Given the description of an element on the screen output the (x, y) to click on. 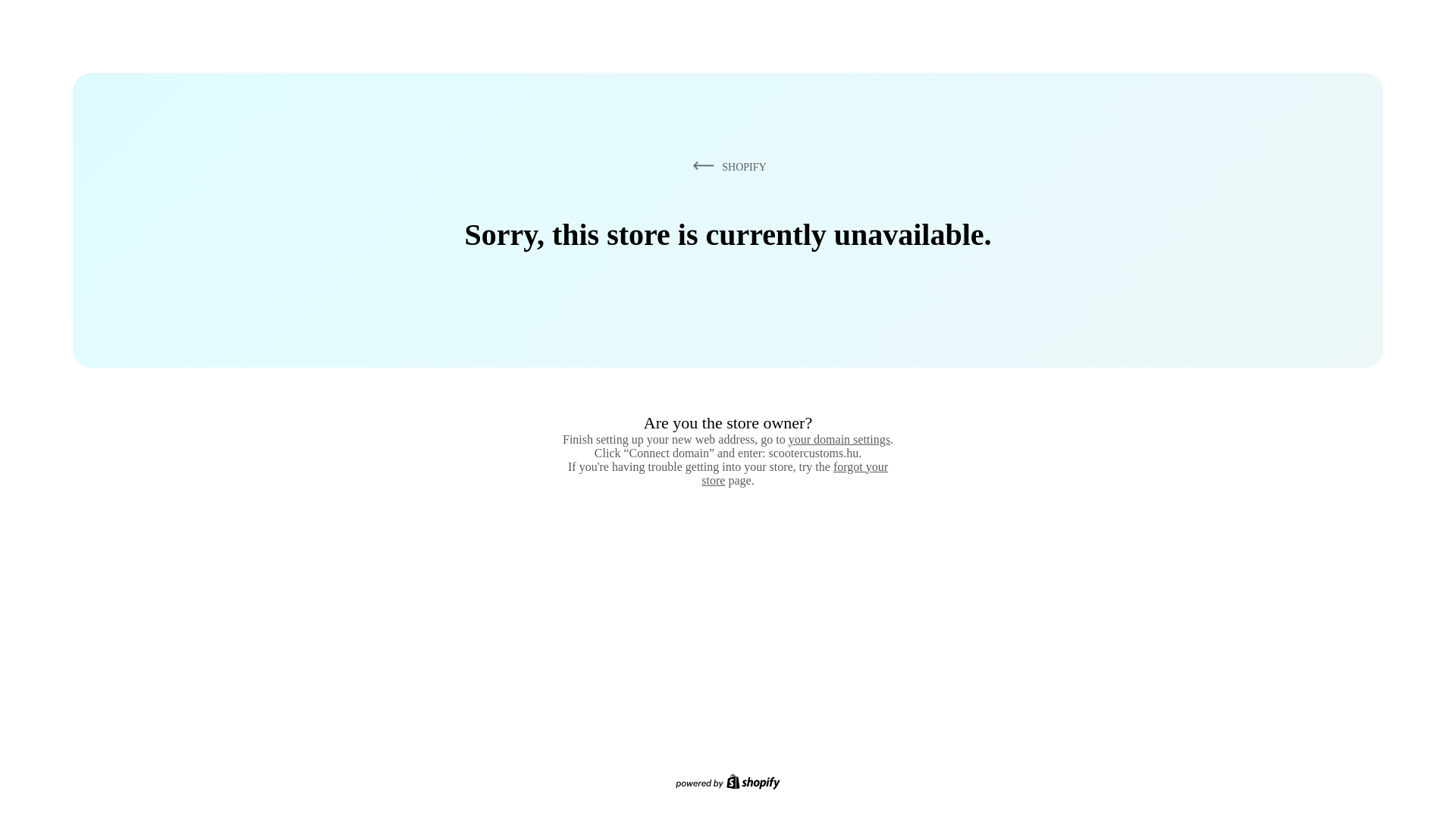
SHOPIFY (726, 166)
forgot your store (794, 473)
your domain settings (839, 439)
